Given the description of an element on the screen output the (x, y) to click on. 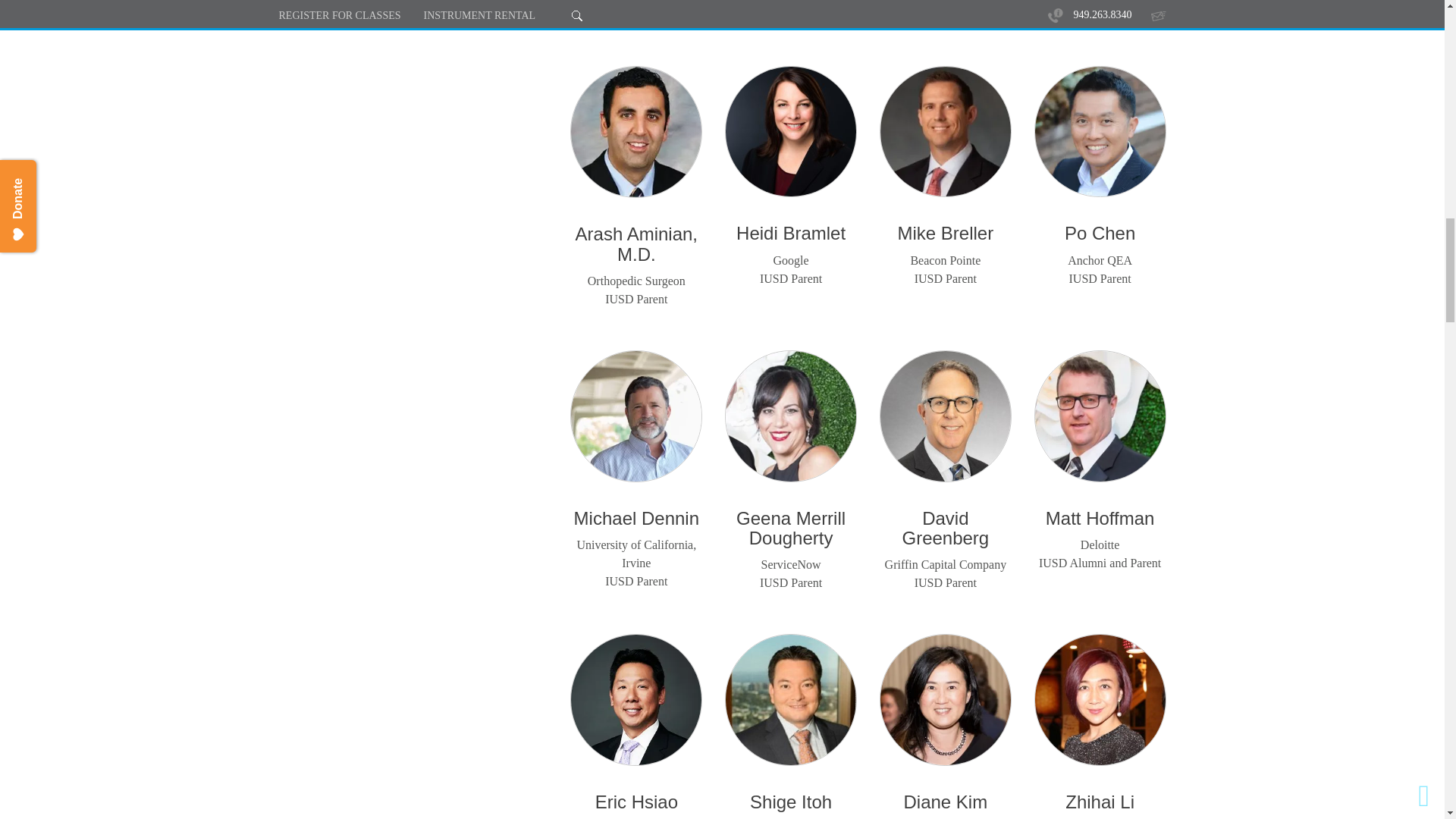
breller (945, 131)
hsiao (635, 699)
Heidi Bramlet (790, 131)
Po Chen square (1100, 131)
dennin (635, 416)
kim (945, 699)
Matt Hoffman (1100, 416)
li (1100, 699)
Arash Aminian, M.D. (635, 132)
David Greenberg (945, 416)
merrill2 (790, 416)
itho (790, 699)
